Given the description of an element on the screen output the (x, y) to click on. 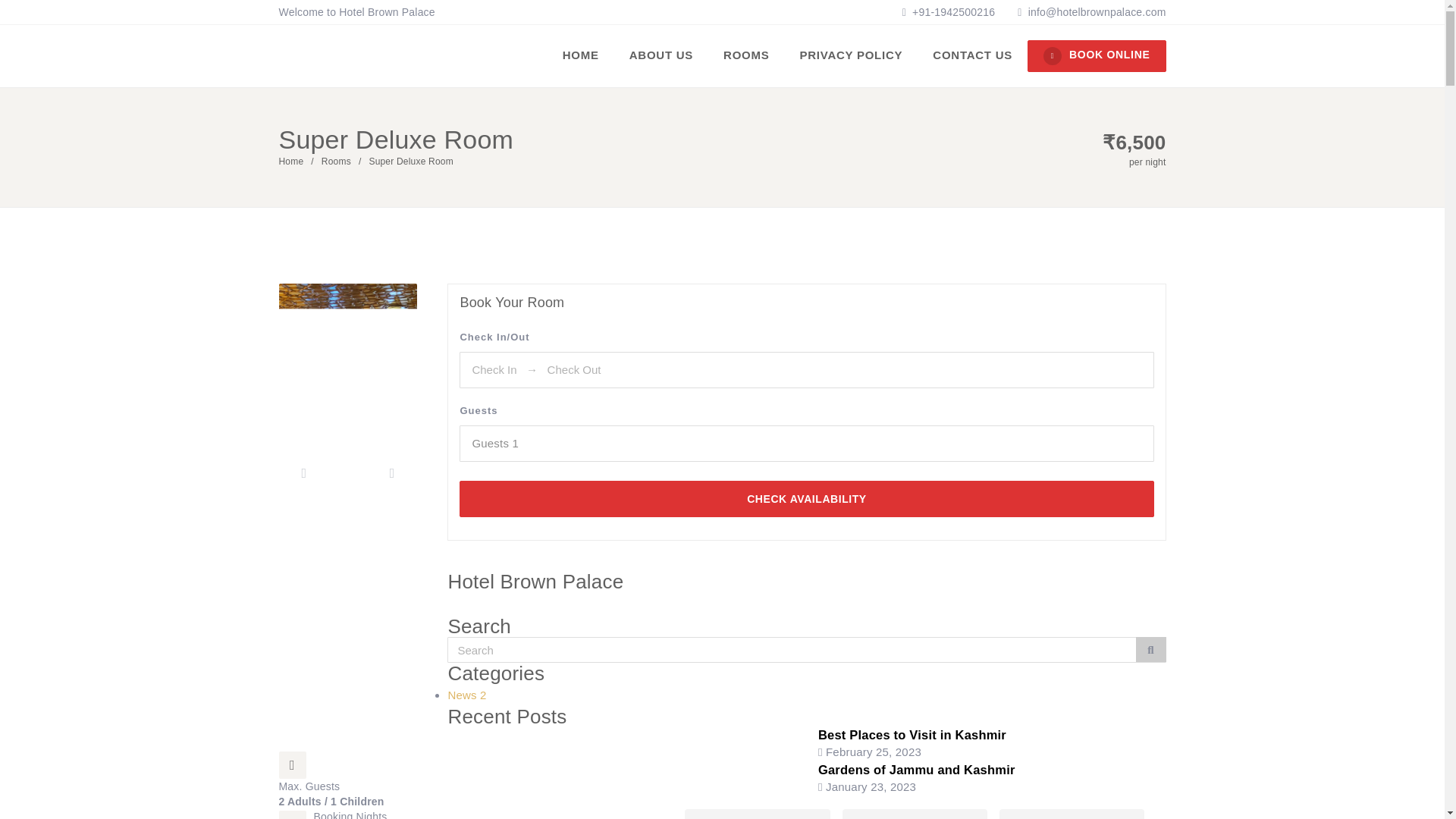
Best Places to Visit in Kashmir (912, 735)
Gardens of Jammu and Kashmir (916, 769)
BOOK ONLINE (1096, 56)
Home (291, 161)
CONTACT US (972, 55)
CHECK AVAILABILITY (806, 498)
News 2 (466, 694)
ROOMS (745, 55)
HOME (580, 55)
Rooms (335, 161)
